Given the description of an element on the screen output the (x, y) to click on. 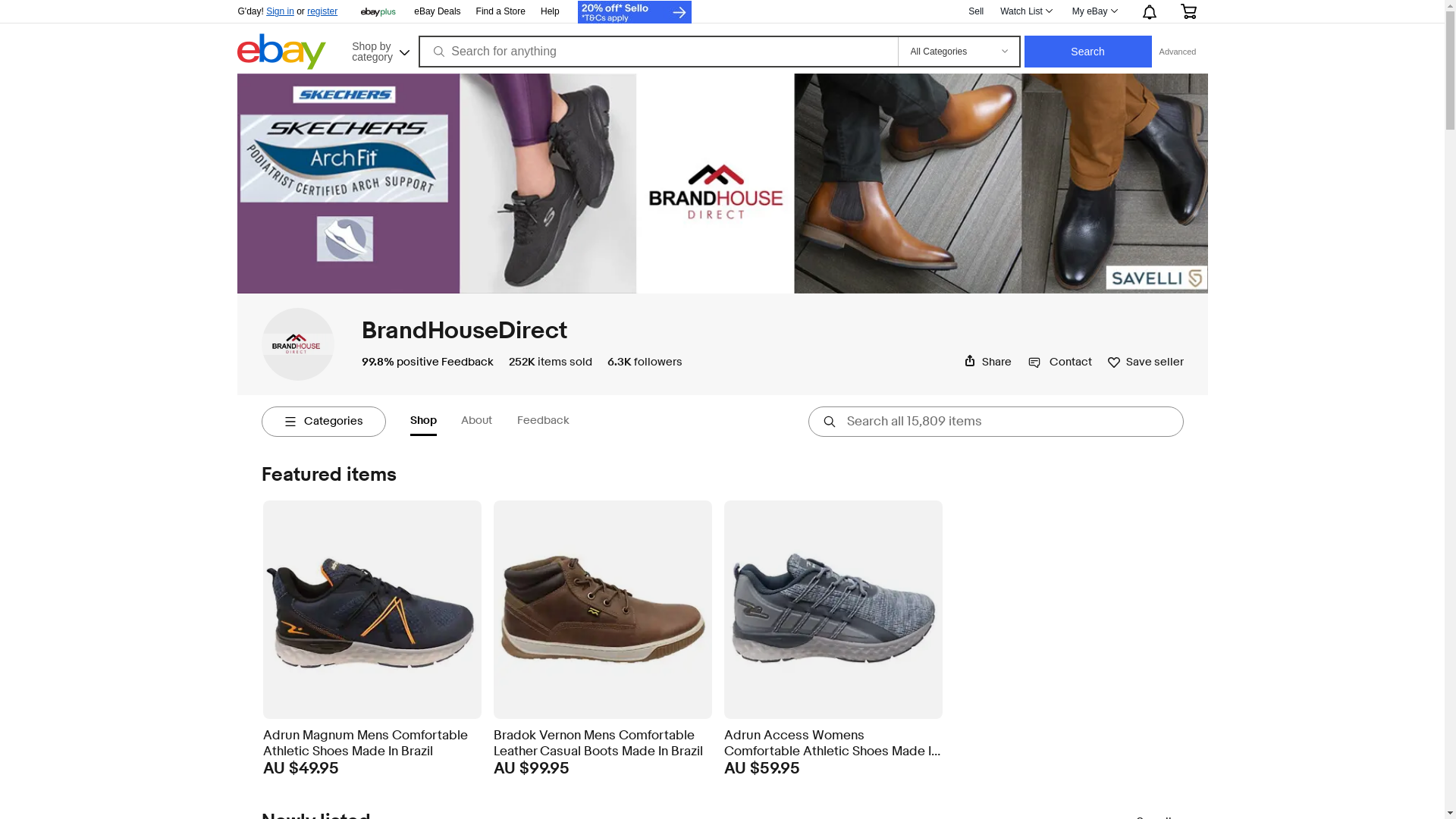
Search Element type: text (1087, 51)
Watch List Element type: text (1025, 11)
eBay Deals Element type: text (437, 11)
Advanced Element type: text (1177, 51)
BrandHouseDirect Element type: text (463, 330)
register Element type: text (322, 11)
Filter by category
Categories Element type: text (322, 421)
Sign in Element type: text (280, 11)
Notification Element type: text (1147, 10)
99.8% positive Feedback Element type: text (426, 361)
Save seller Element type: text (1145, 360)
Help Element type: text (549, 11)
Sell Element type: text (975, 11)
Contact Element type: text (1060, 361)
My eBay Element type: text (1093, 11)
Shop by category Element type: text (379, 49)
BrandHouseDirect Element type: hover (296, 343)
Share Element type: text (986, 361)
Find a Store Element type: text (500, 11)
